Given the description of an element on the screen output the (x, y) to click on. 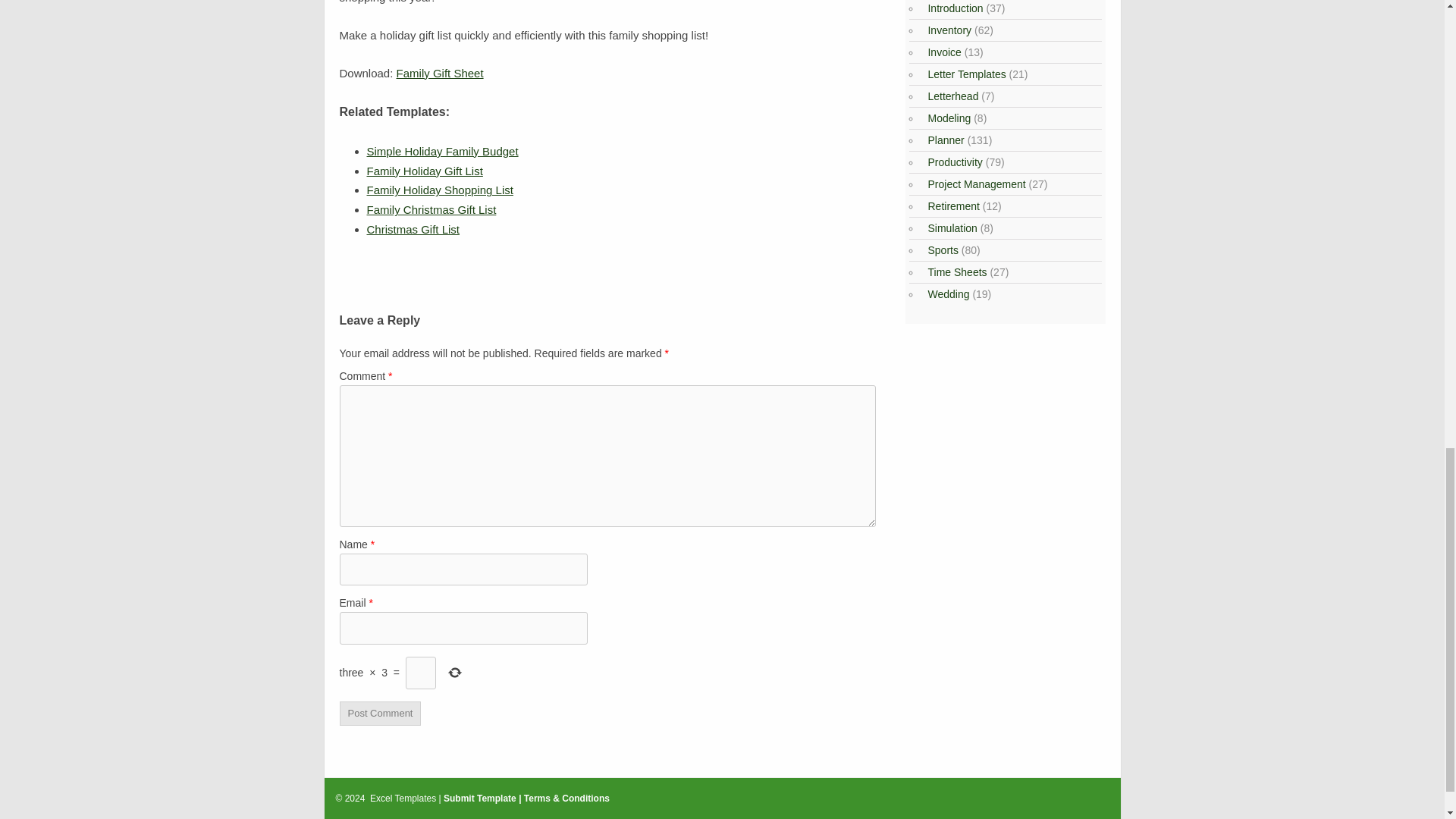
Family Gift Sheet (439, 72)
November 23, 2015 (431, 209)
Family Holiday Shopping List (439, 189)
November 1, 2009 (413, 228)
November 23, 2015 (439, 189)
Post Comment (380, 713)
November 23, 2015 (442, 151)
Christmas Gift List (413, 228)
Simple Holiday Family Budget (442, 151)
Family Christmas Gift List (431, 209)
Post Comment (380, 713)
November 23, 2015 (424, 170)
Family Holiday Gift List (424, 170)
